Given the description of an element on the screen output the (x, y) to click on. 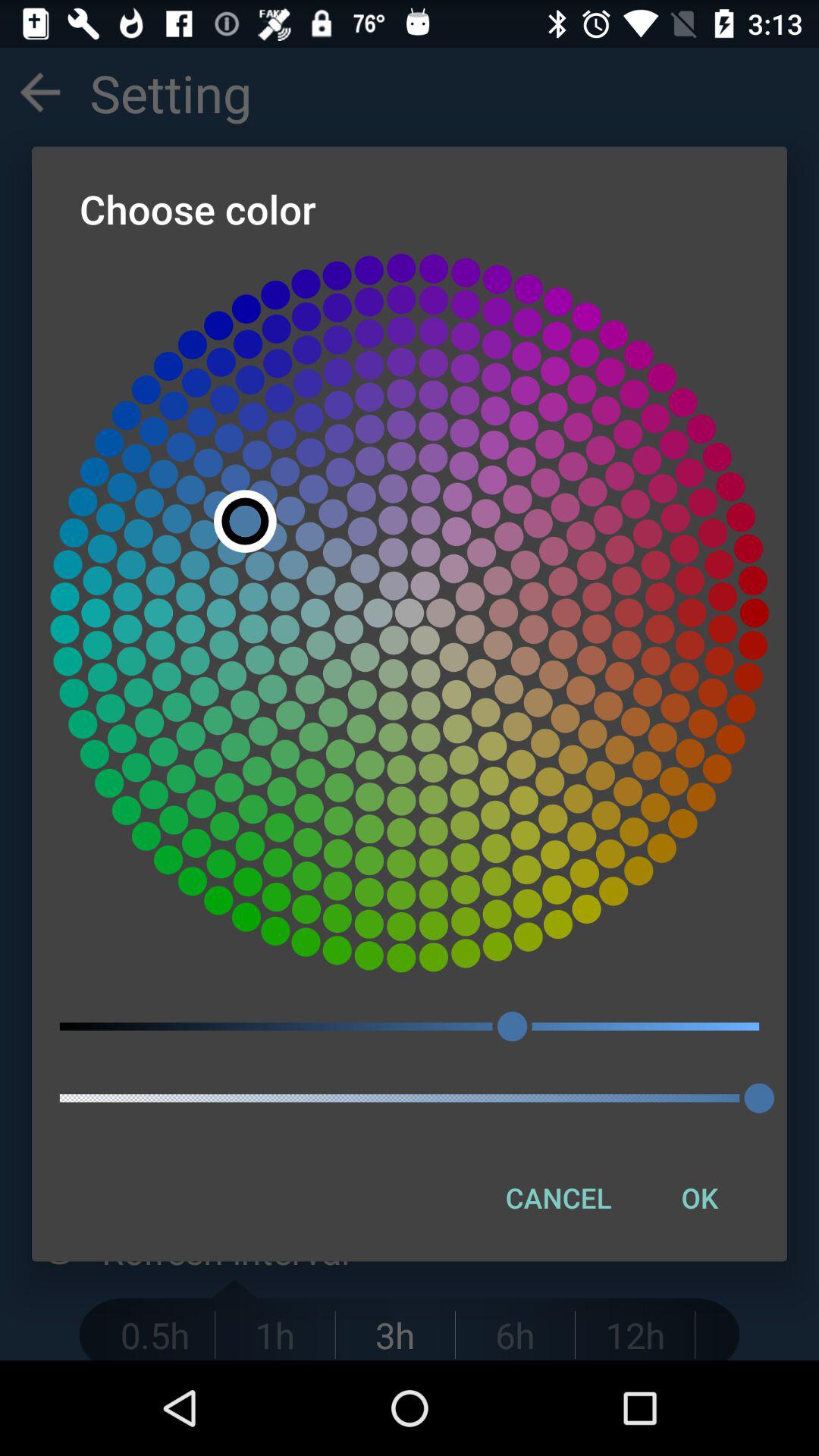
select item next to the ok (558, 1197)
